Given the description of an element on the screen output the (x, y) to click on. 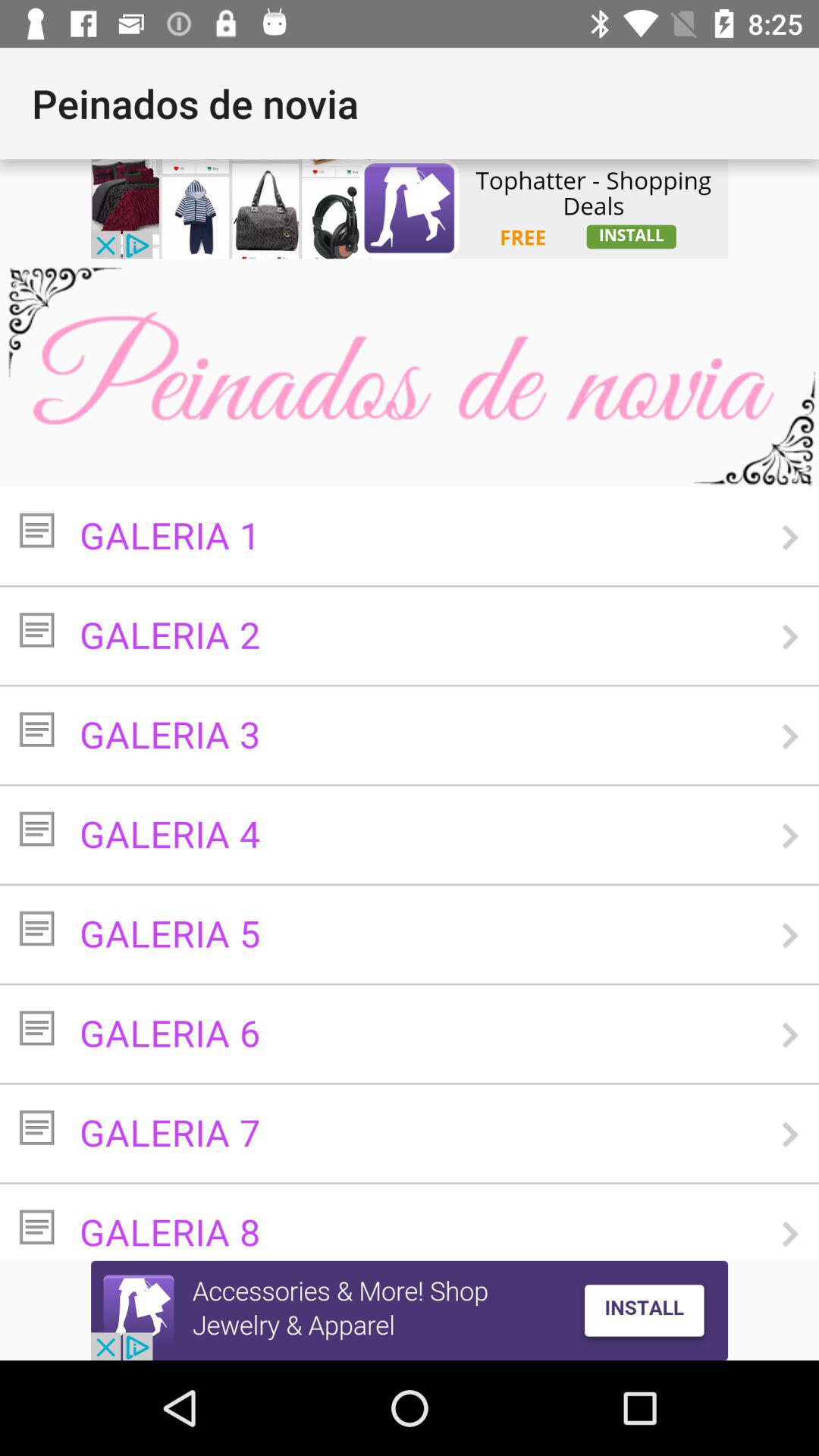
click advertisement (409, 208)
